Given the description of an element on the screen output the (x, y) to click on. 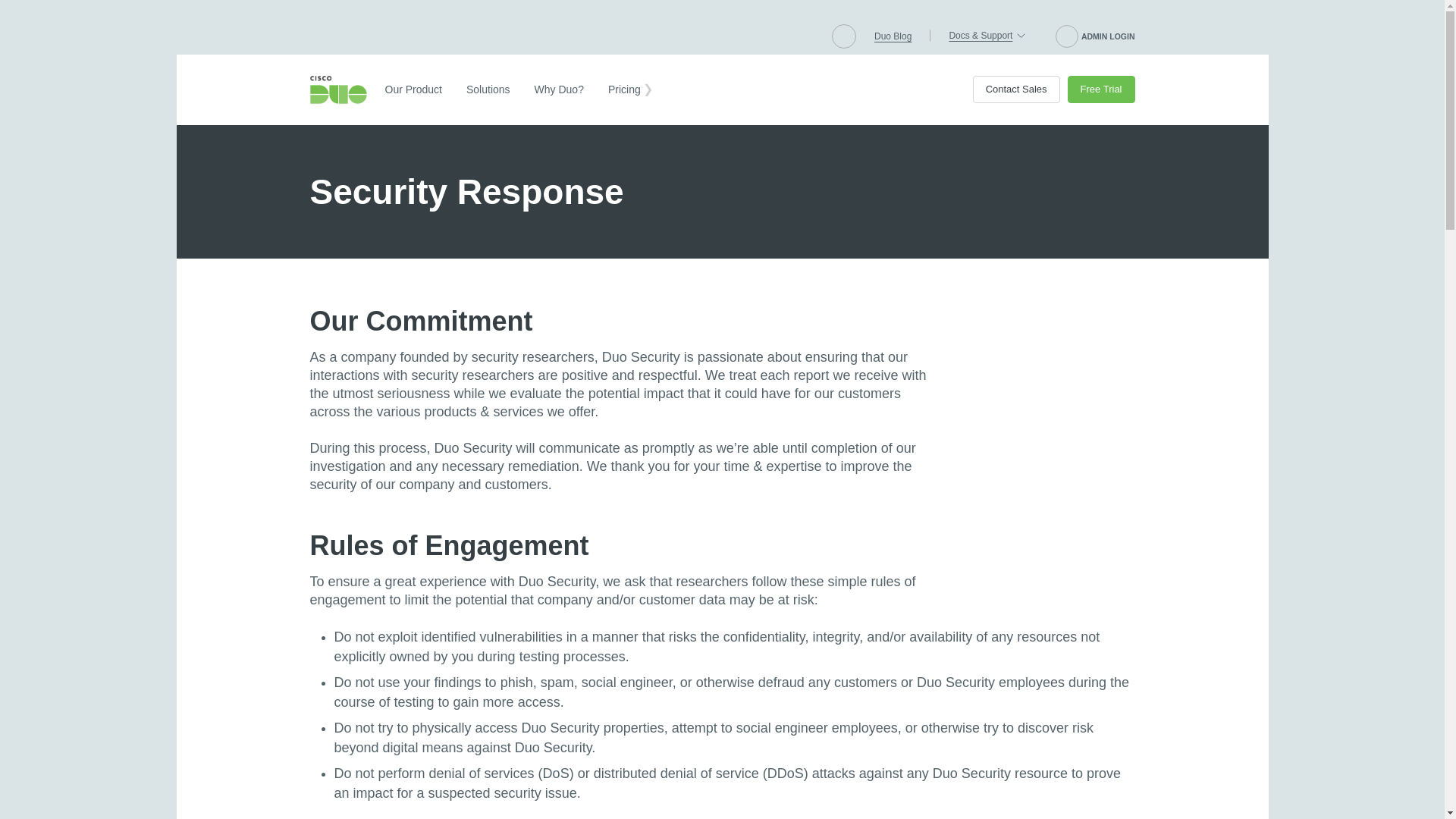
Our Product (413, 89)
Duo Blog (893, 35)
Search (843, 36)
Solutions (488, 89)
